Given the description of an element on the screen output the (x, y) to click on. 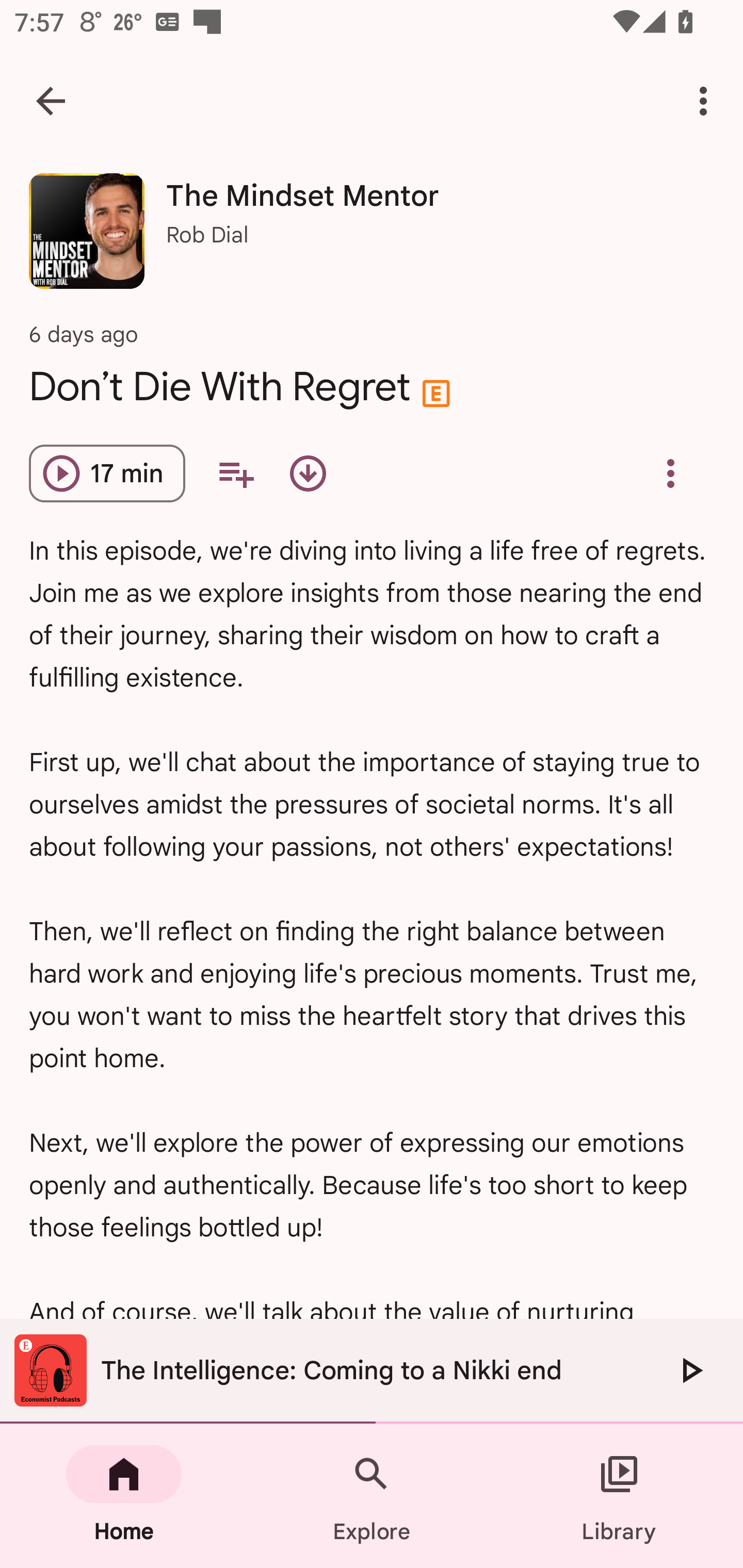
Navigate up (50, 101)
More options (706, 101)
The Mindset Mentor The Mindset Mentor Rob Dial (371, 238)
Play episode Don’t Die With Regret 17 min (106, 473)
Add to your queue (235, 473)
Download episode (307, 473)
Overflow menu (670, 473)
Play (690, 1370)
Explore (371, 1495)
Library (619, 1495)
